Given the description of an element on the screen output the (x, y) to click on. 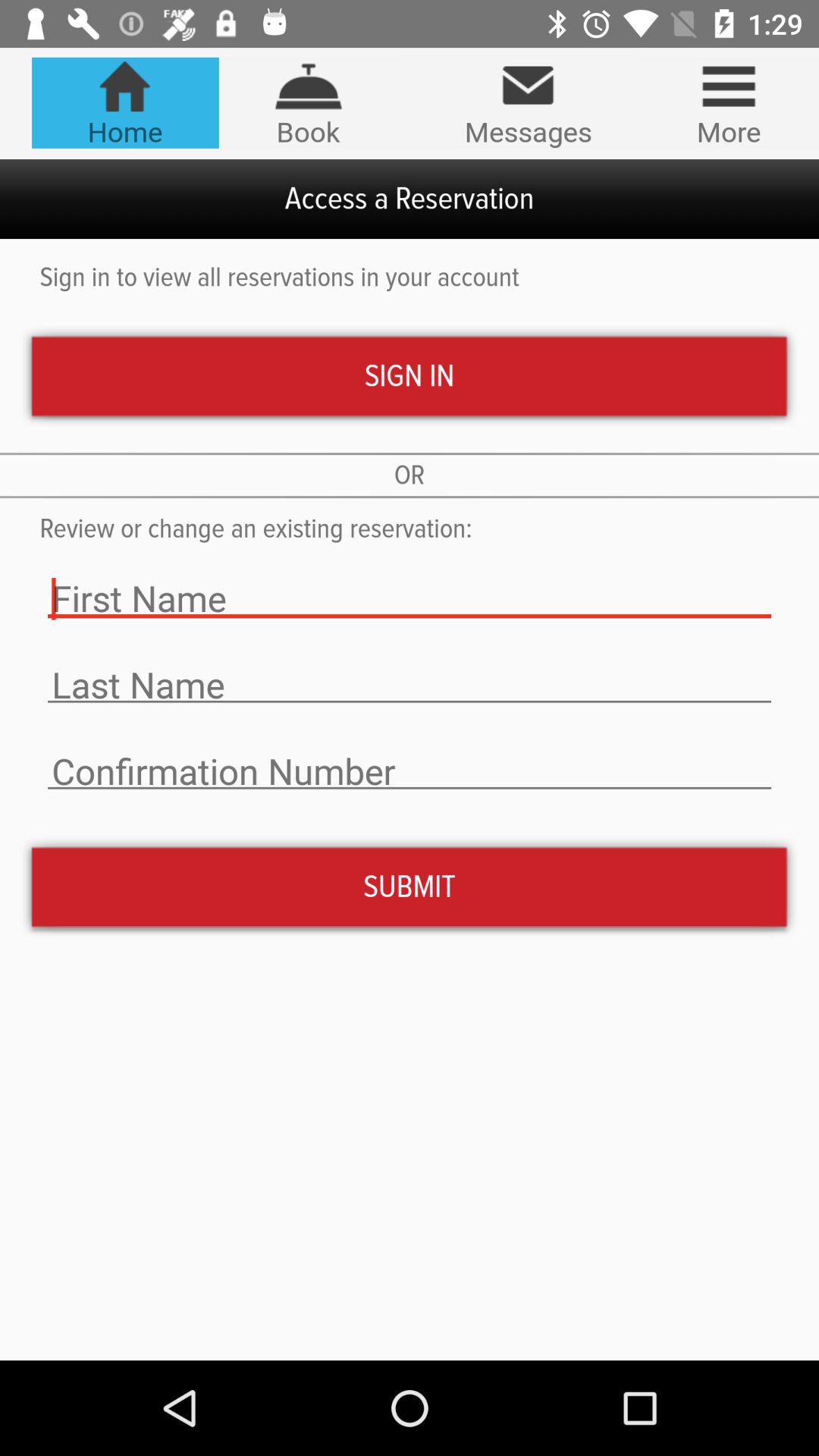
turn off item above access a reservation item (528, 103)
